Given the description of an element on the screen output the (x, y) to click on. 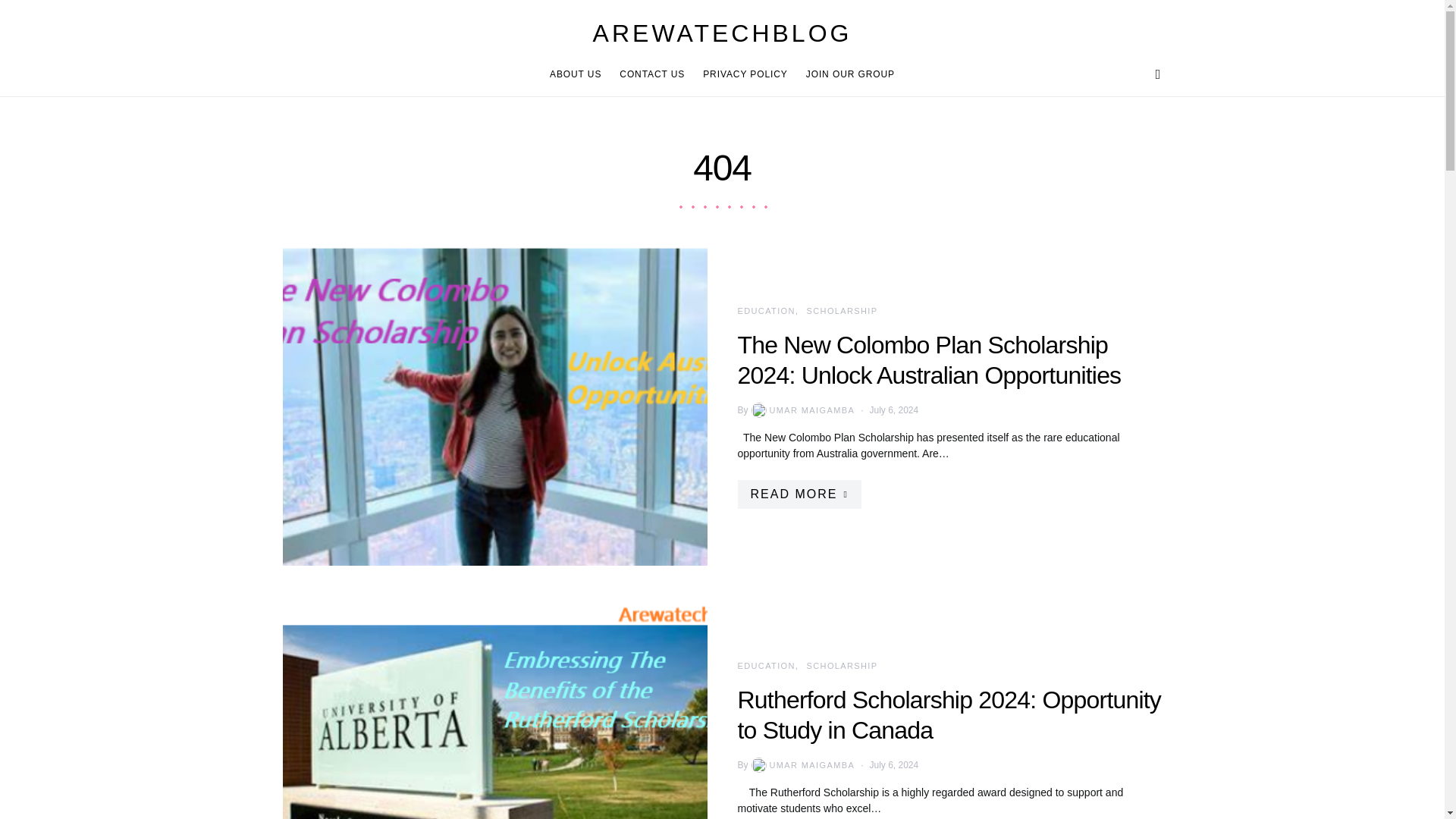
AREWATECHBLOG (721, 33)
ABOUT US (580, 74)
View all posts by Umar Maigamba (802, 765)
Rutherford Scholarship 2024: Opportunity to Study in Canada (948, 714)
View all posts by Umar Maigamba (802, 409)
CONTACT US (652, 74)
JOIN OUR GROUP (845, 74)
SCHOLARSHIP (841, 310)
UMAR MAIGAMBA (802, 409)
READ MORE (798, 493)
EDUCATION (765, 665)
SCHOLARSHIP (841, 665)
EDUCATION (765, 310)
UMAR MAIGAMBA (802, 765)
